Given the description of an element on the screen output the (x, y) to click on. 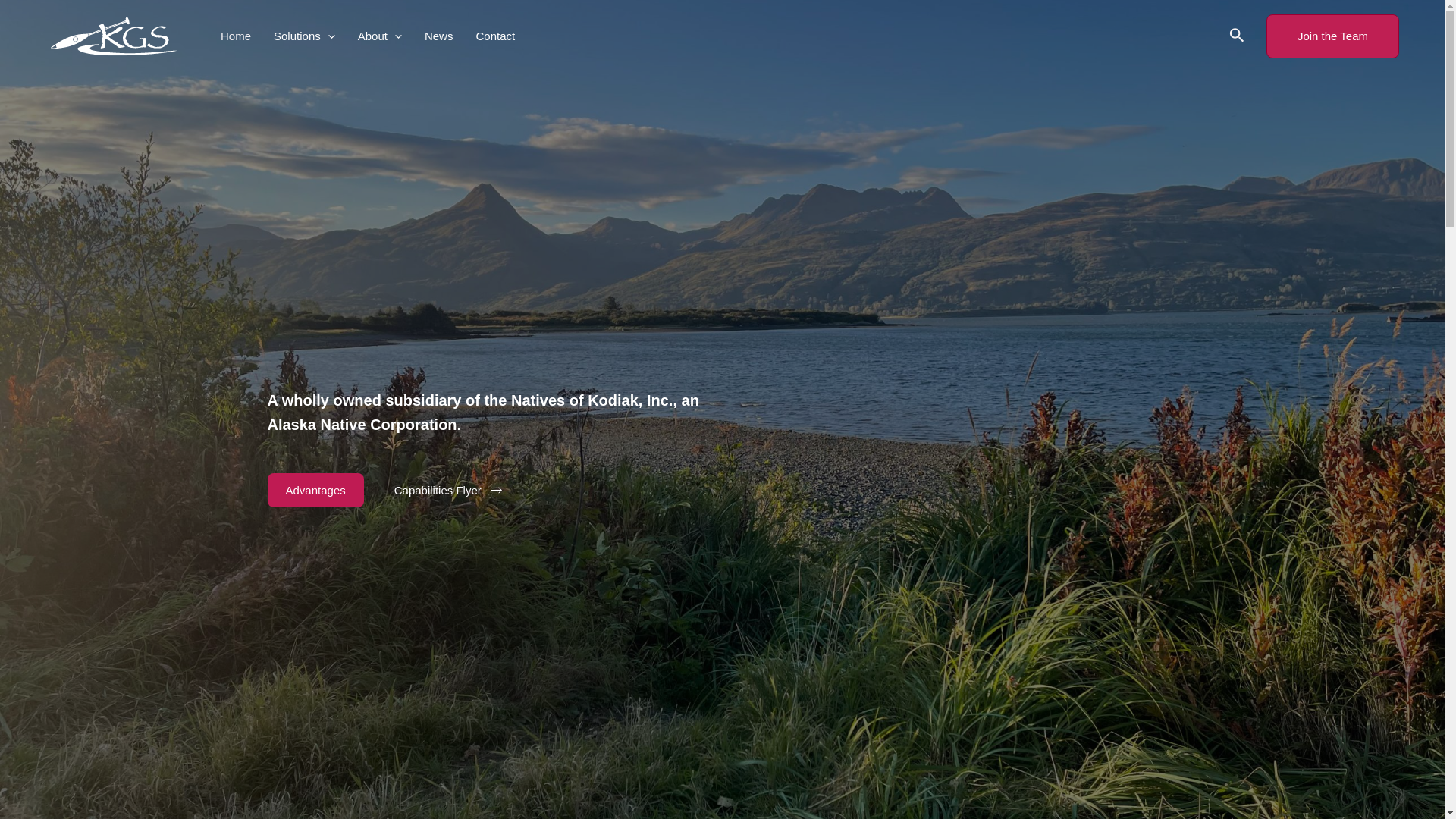
Advantages (314, 489)
About (379, 36)
Solutions (304, 36)
Capabilities Flyer (448, 490)
Join the Team (1332, 36)
